Given the description of an element on the screen output the (x, y) to click on. 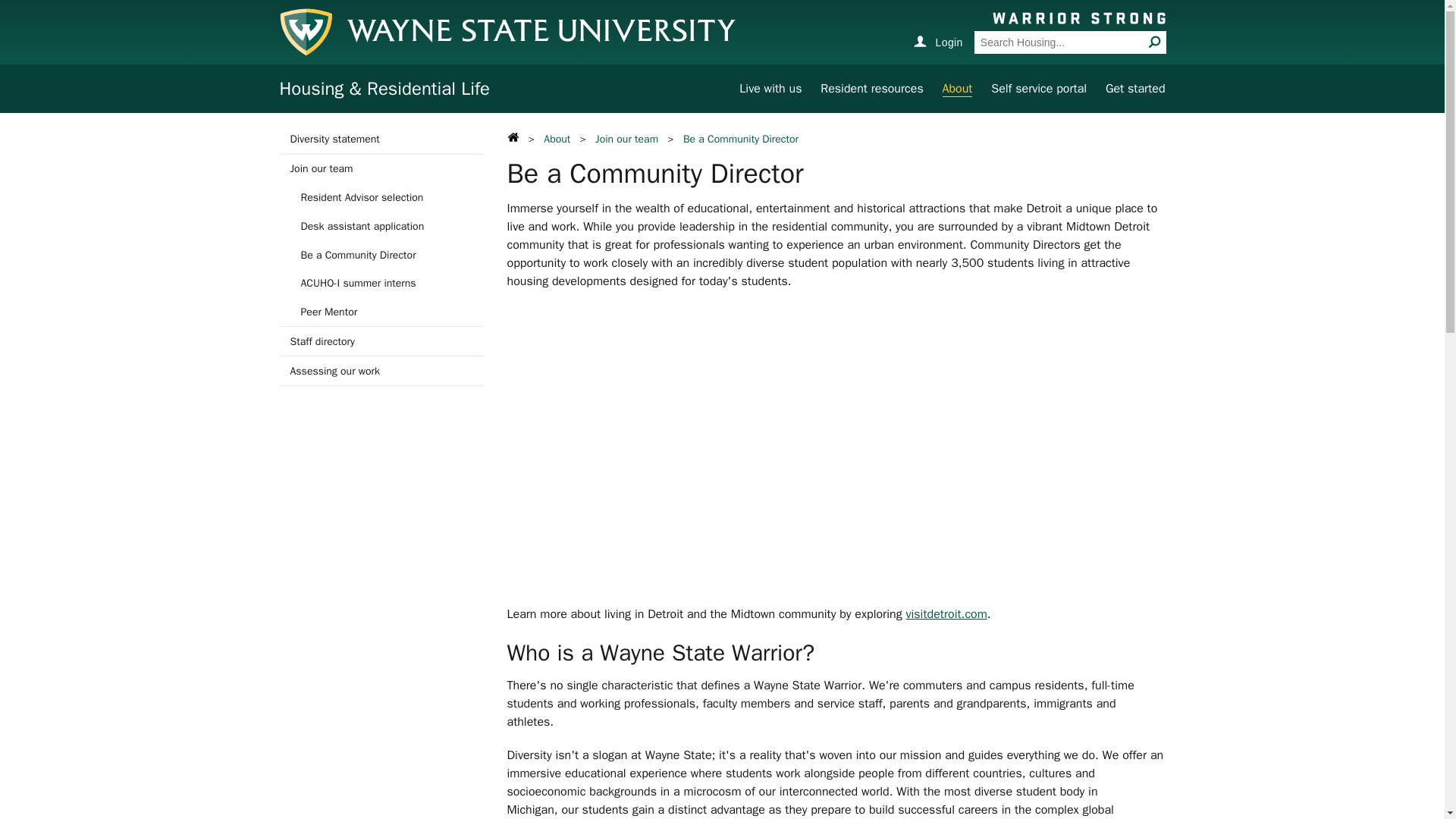
Join our team (380, 168)
Warrior strong (1078, 17)
Join our team (626, 138)
Resident resources (872, 88)
Get started (1135, 88)
Desk assistant application (380, 225)
Self service portal (1038, 88)
home (512, 137)
Warrior strong (1078, 16)
Peer Mentor (380, 312)
